Given the description of an element on the screen output the (x, y) to click on. 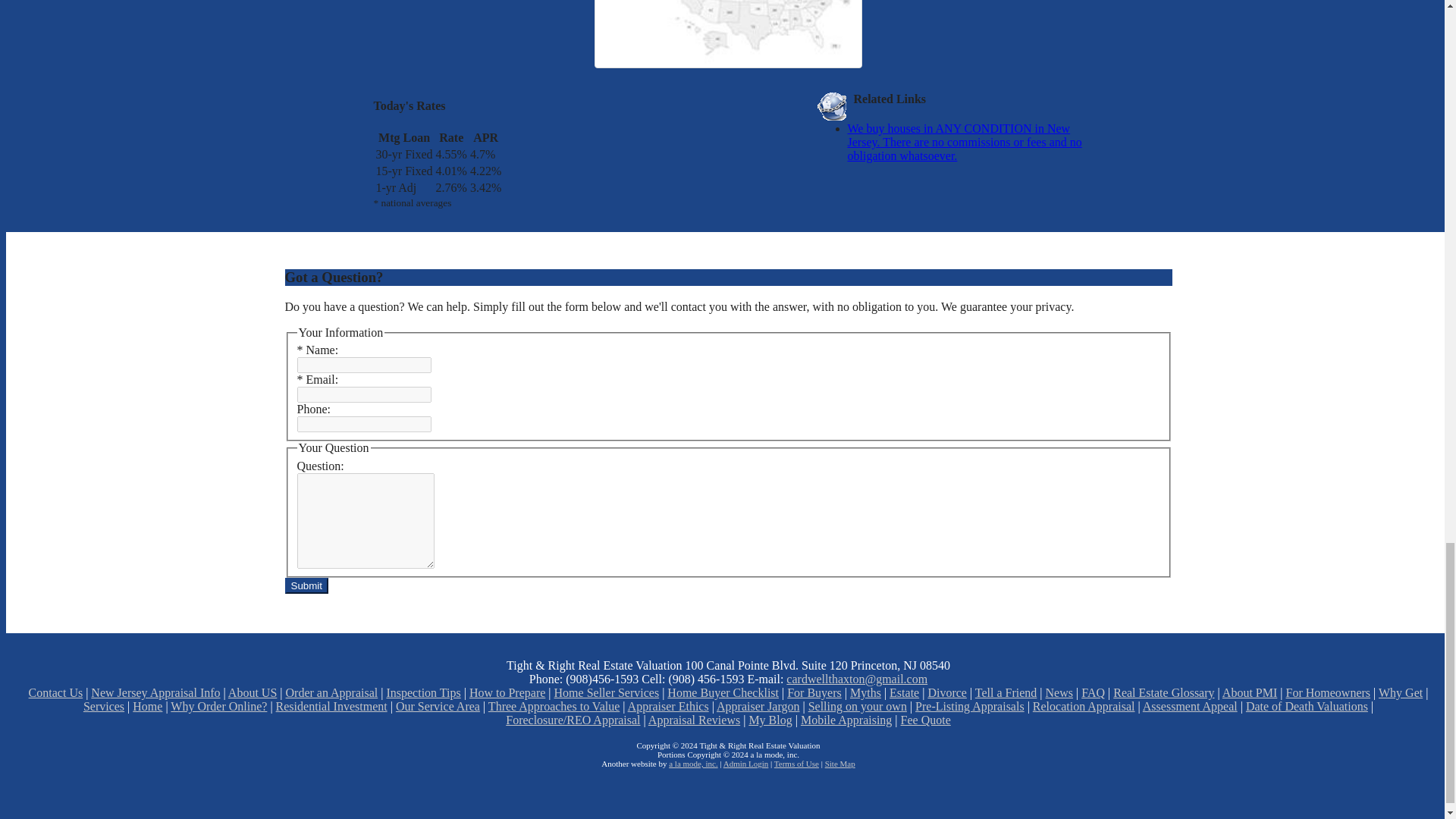
Submit (307, 585)
